Given the description of an element on the screen output the (x, y) to click on. 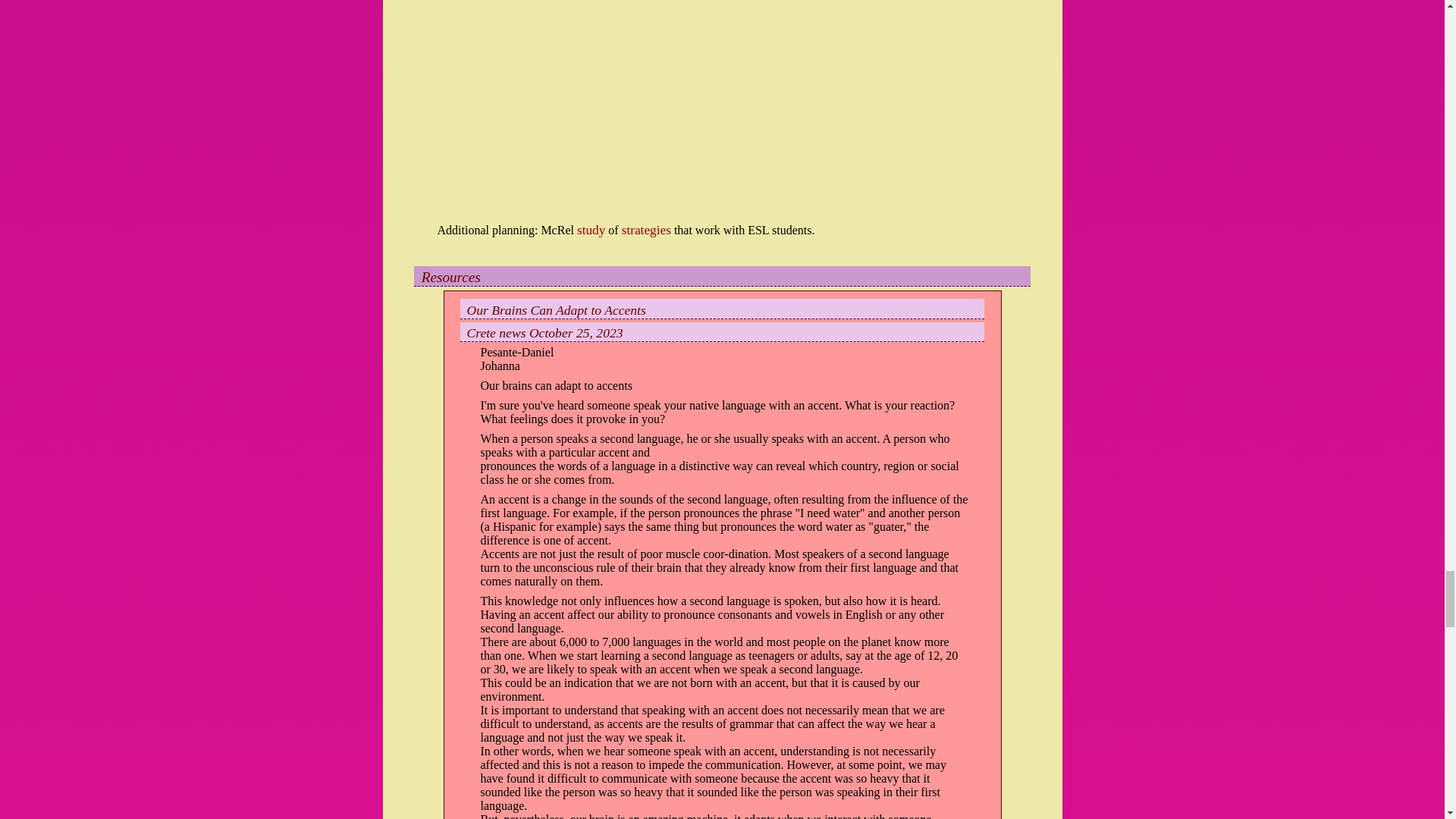
study (590, 229)
strategies (646, 229)
